Given the description of an element on the screen output the (x, y) to click on. 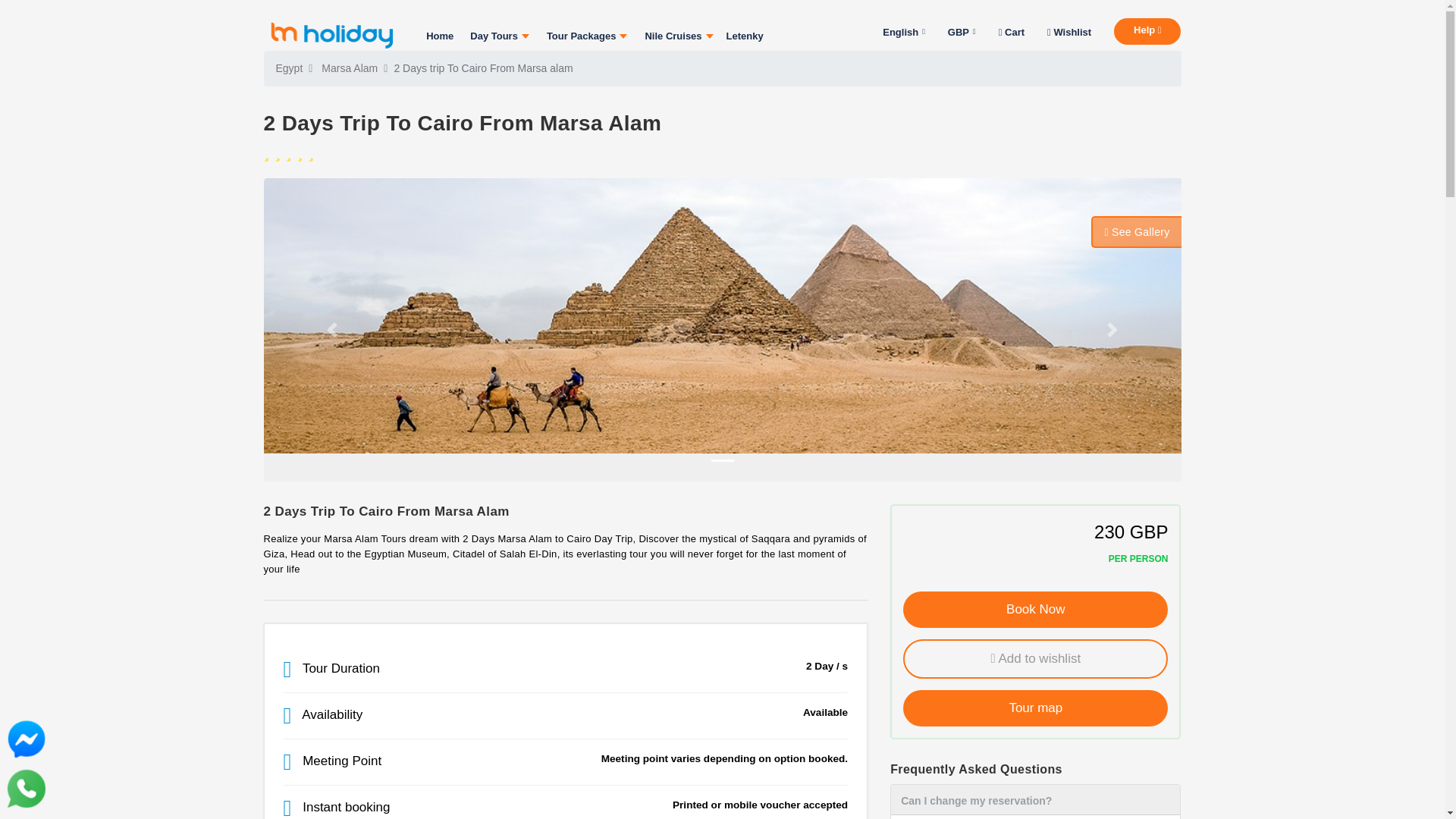
Home (440, 35)
Tour Packages (584, 35)
Nile Cruises (676, 35)
Day Tours (497, 35)
LM Holiday (330, 30)
Letenky (745, 35)
